Given the description of an element on the screen output the (x, y) to click on. 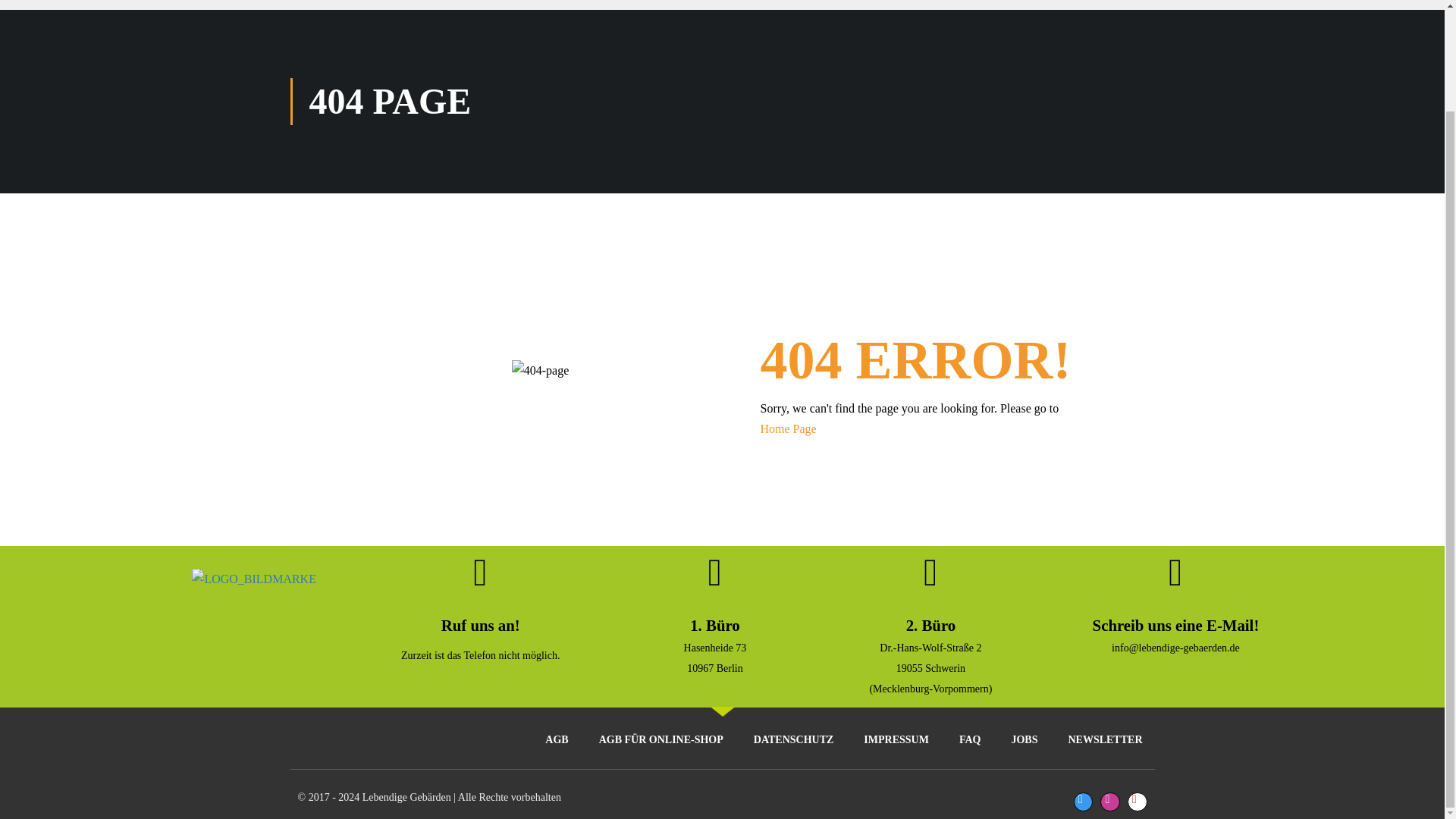
Home Page (787, 428)
NEWSLETTER (1104, 739)
DATENSCHUTZ (793, 739)
AGB (556, 739)
Schreib uns eine E-Mail! (1176, 624)
JOBS (1023, 739)
IMPRESSUM (895, 739)
FAQ (969, 739)
